Given the description of an element on the screen output the (x, y) to click on. 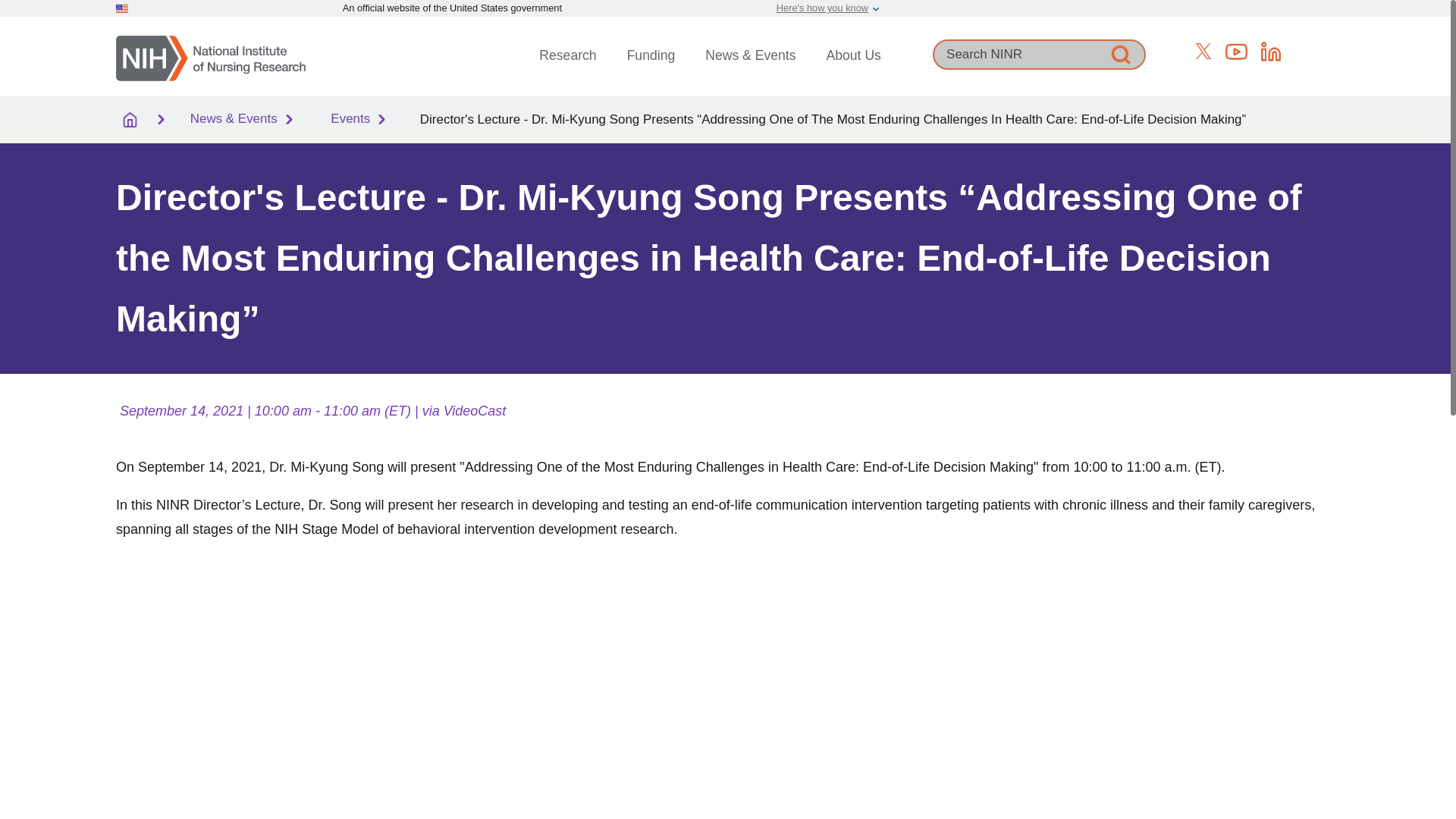
Funding (650, 55)
Research (567, 55)
About Us (853, 55)
Home (210, 56)
Here's how you know (821, 8)
YouTube video player (328, 674)
